Given the description of an element on the screen output the (x, y) to click on. 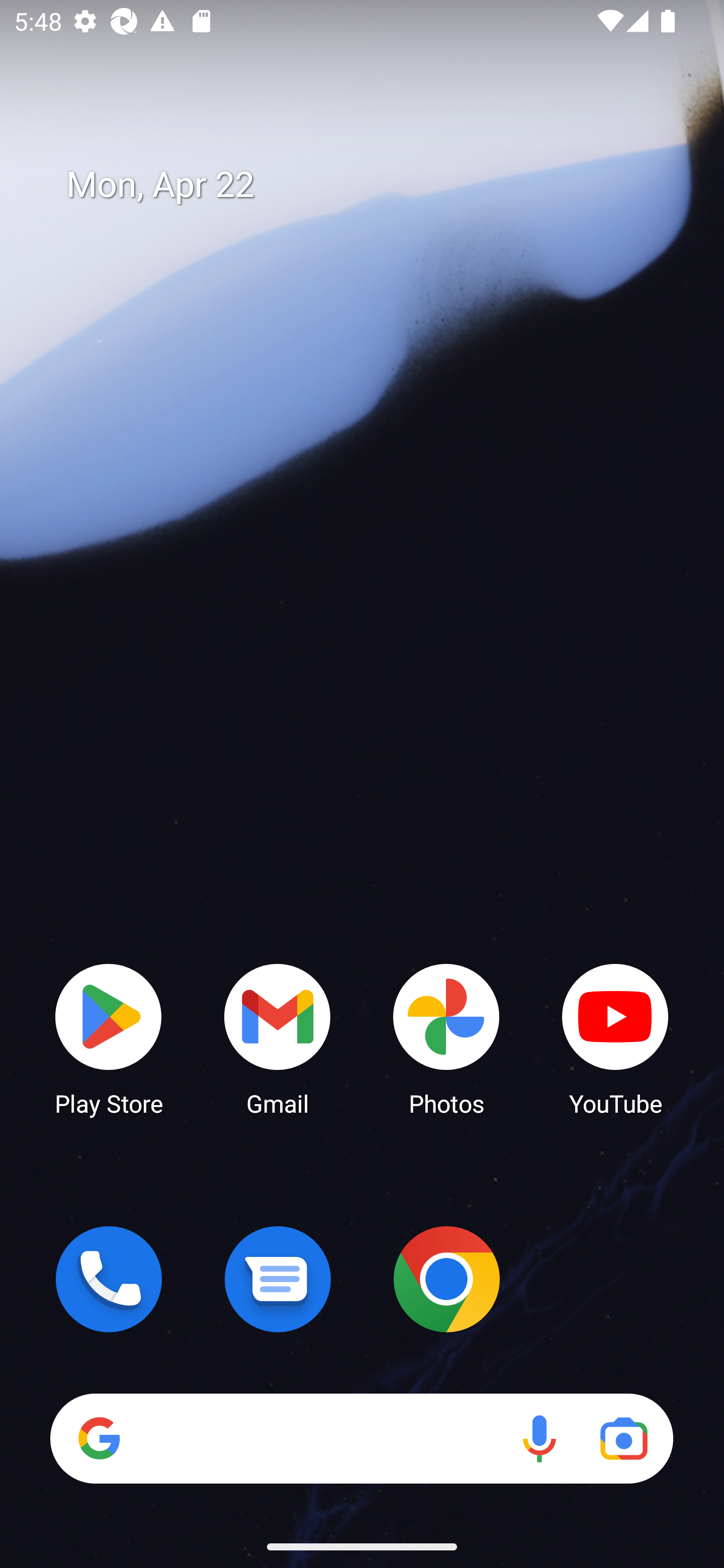
Mon, Apr 22 (375, 184)
Play Store (108, 1038)
Gmail (277, 1038)
Photos (445, 1038)
YouTube (615, 1038)
Phone (108, 1279)
Messages (277, 1279)
Chrome (446, 1279)
Search Voice search Google Lens (361, 1438)
Voice search (539, 1438)
Google Lens (623, 1438)
